Given the description of an element on the screen output the (x, y) to click on. 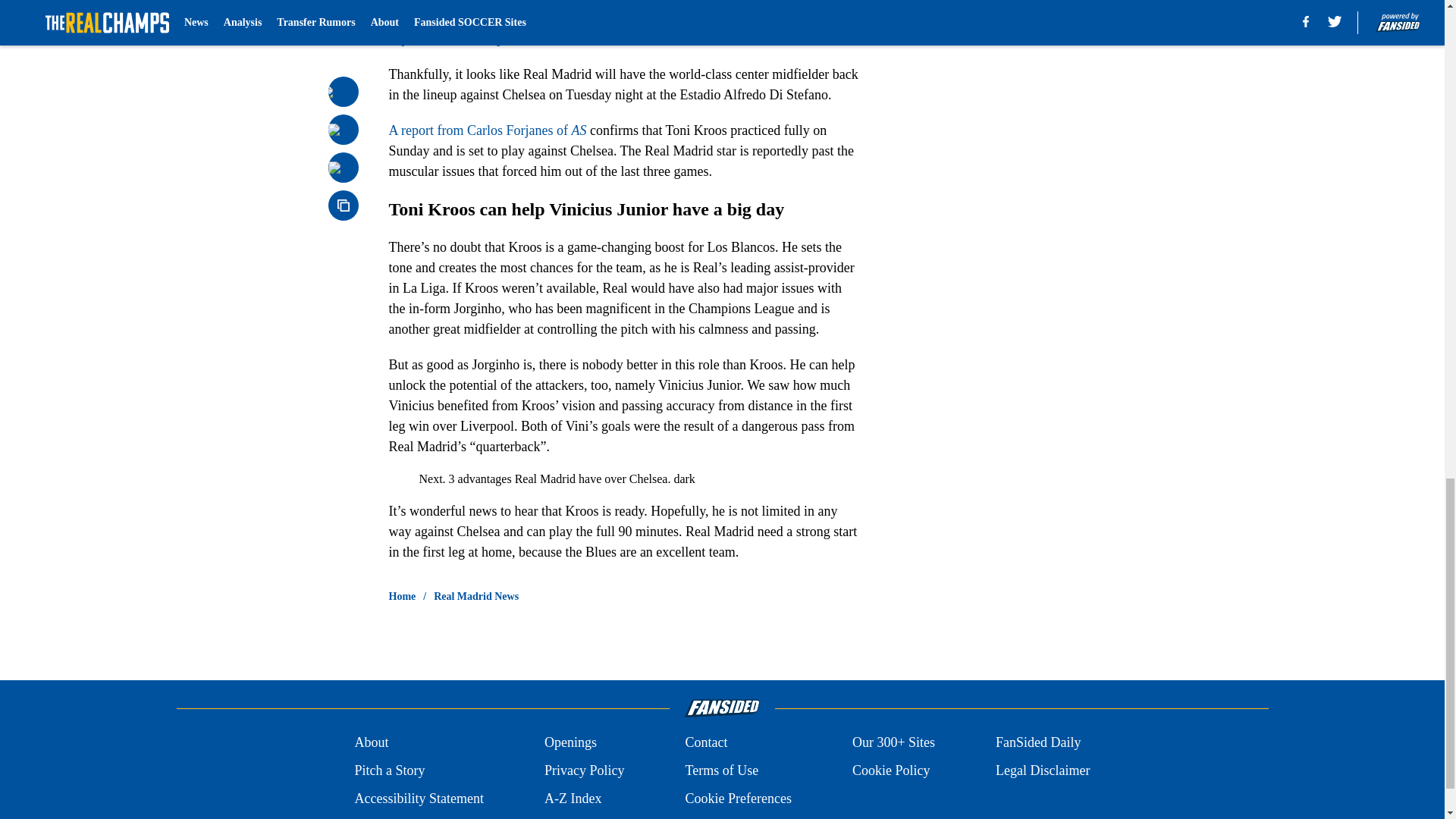
Privacy Policy (584, 770)
Openings (570, 742)
Cookie Preferences (737, 798)
Legal Disclaimer (1042, 770)
Terms of Use (721, 770)
A report from Carlos Forjanes of AS (487, 130)
Pitch a Story (389, 770)
Accessibility Statement (418, 798)
Home (401, 596)
